Given the description of an element on the screen output the (x, y) to click on. 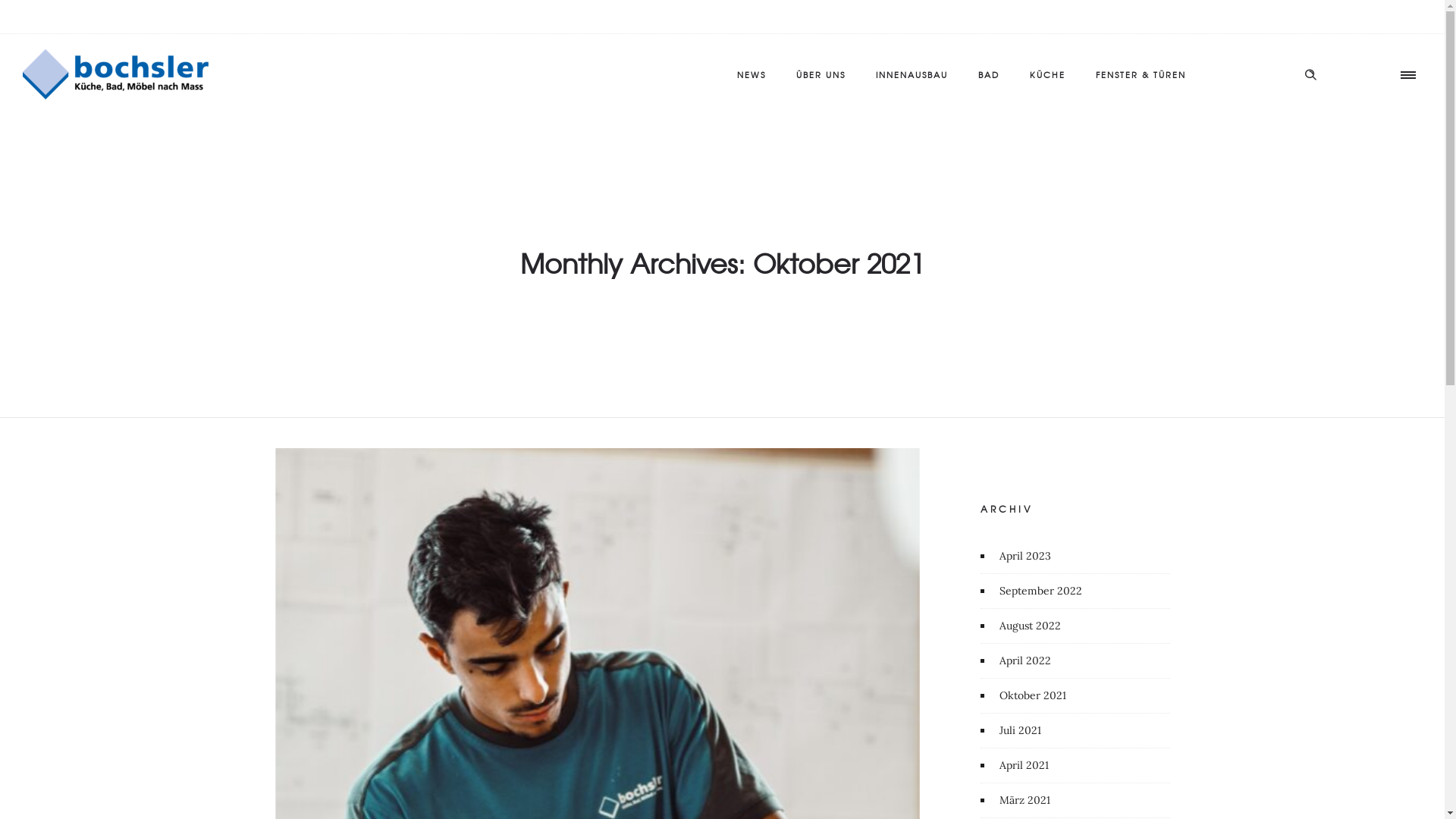
Oktober 2021 Element type: text (1034, 695)
BAD Element type: text (988, 74)
NEWS Element type: text (751, 74)
INNENAUSBAU Element type: text (911, 74)
April 2023 Element type: text (1026, 555)
April 2022 Element type: text (1026, 660)
Juli 2021 Element type: text (1021, 730)
September 2022 Element type: text (1042, 590)
April 2021 Element type: text (1025, 765)
August 2022 Element type: text (1031, 625)
